Given the description of an element on the screen output the (x, y) to click on. 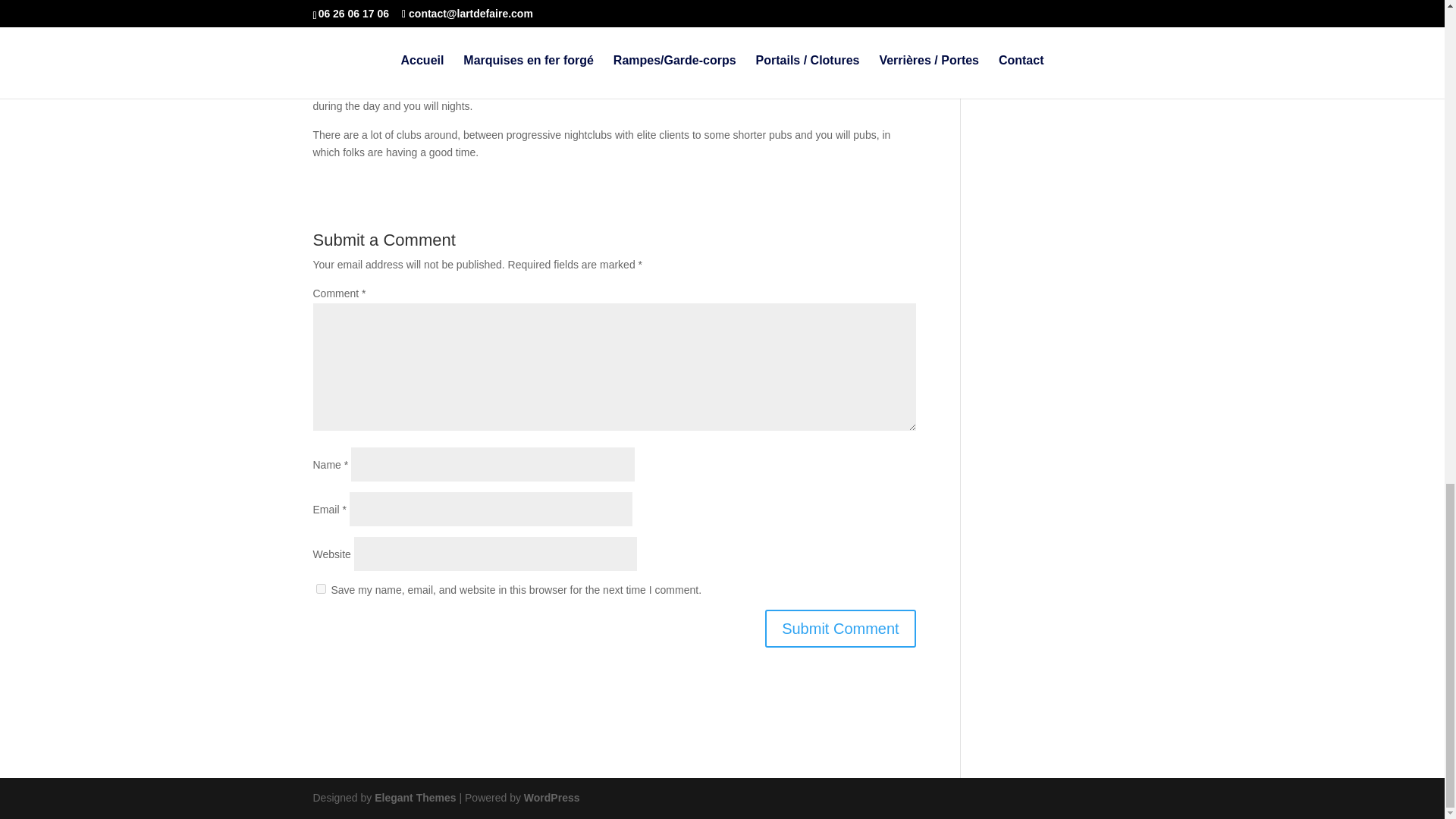
yes (319, 588)
WordPress (551, 797)
Submit Comment (840, 628)
Premium WordPress Themes (414, 797)
Elegant Themes (414, 797)
Submit Comment (840, 628)
